Given the description of an element on the screen output the (x, y) to click on. 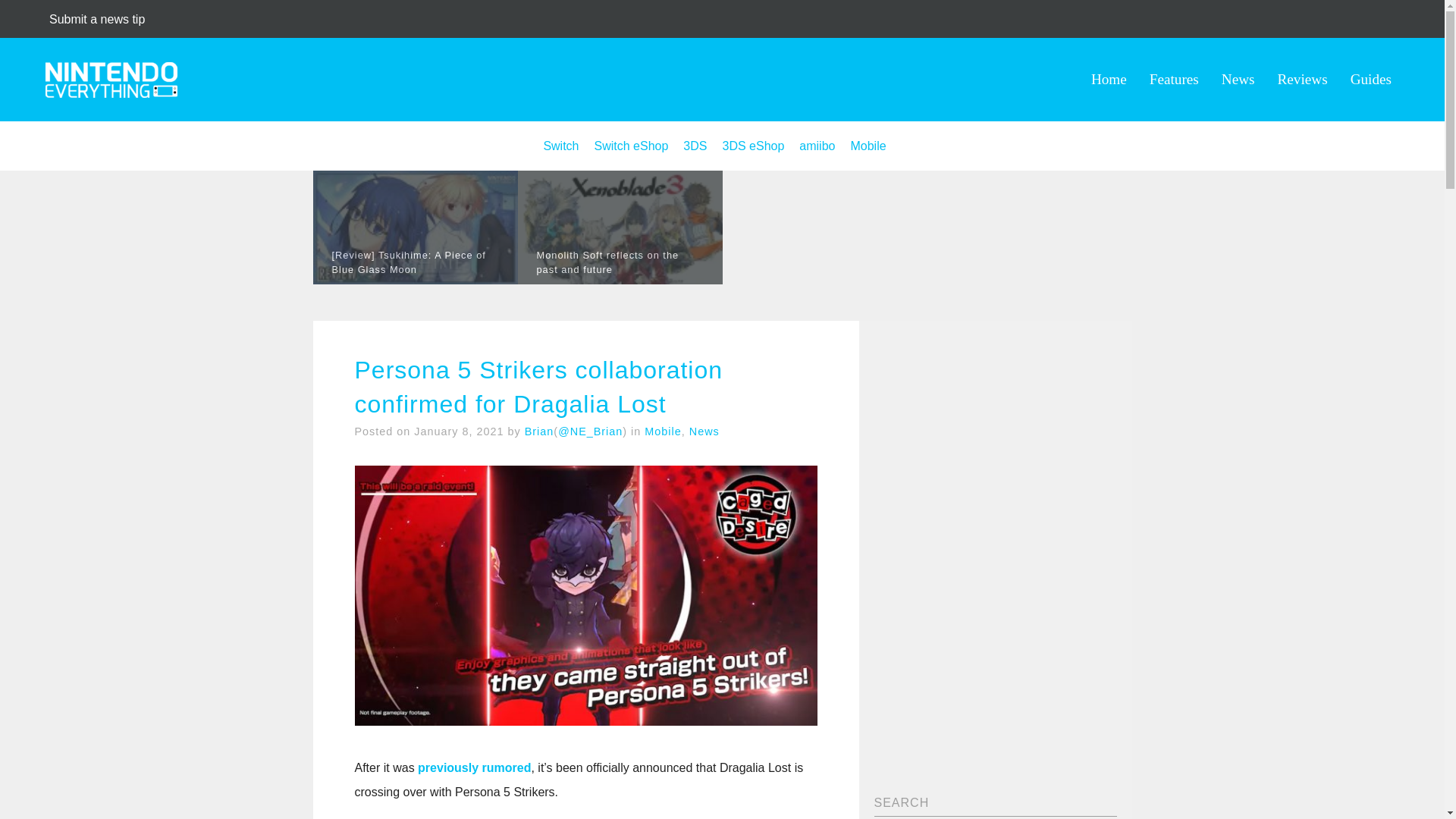
Home (1108, 78)
3DS (694, 145)
Features (1174, 78)
Posts by Brian (539, 431)
amiibo (816, 145)
Reviews (1302, 78)
previously rumored (474, 767)
Brian (539, 431)
Submit a news tip (97, 19)
Switch eShop (631, 145)
Switch (560, 145)
Mobile (867, 145)
News (703, 431)
Mobile (663, 431)
News (1238, 78)
